Given the description of an element on the screen output the (x, y) to click on. 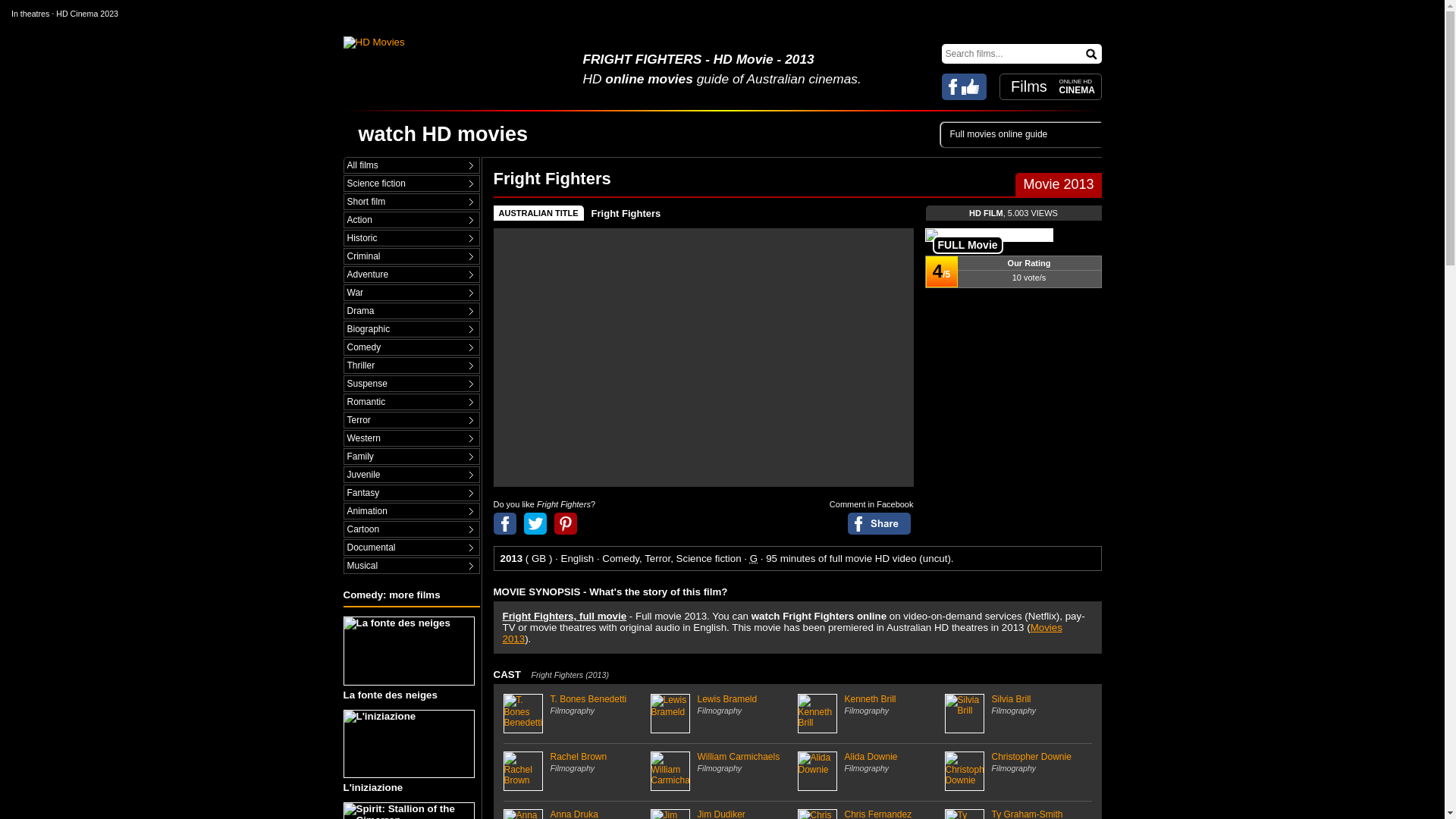
L'iniziazione, movie (408, 744)
Spirit: Stallion of the Cimarron, movie (408, 810)
War (411, 292)
Spirit: Stallion of the Cimarron (410, 810)
All free movies (411, 165)
ONLINE HD CINEMA (1076, 86)
Search (1091, 53)
Musical (411, 565)
Juvenile (411, 474)
HD Cinema 2023 (86, 13)
Suspense (411, 383)
Documental (411, 547)
FULLTV in Facebook (964, 86)
Western (411, 437)
Biographic (411, 328)
